Given the description of an element on the screen output the (x, y) to click on. 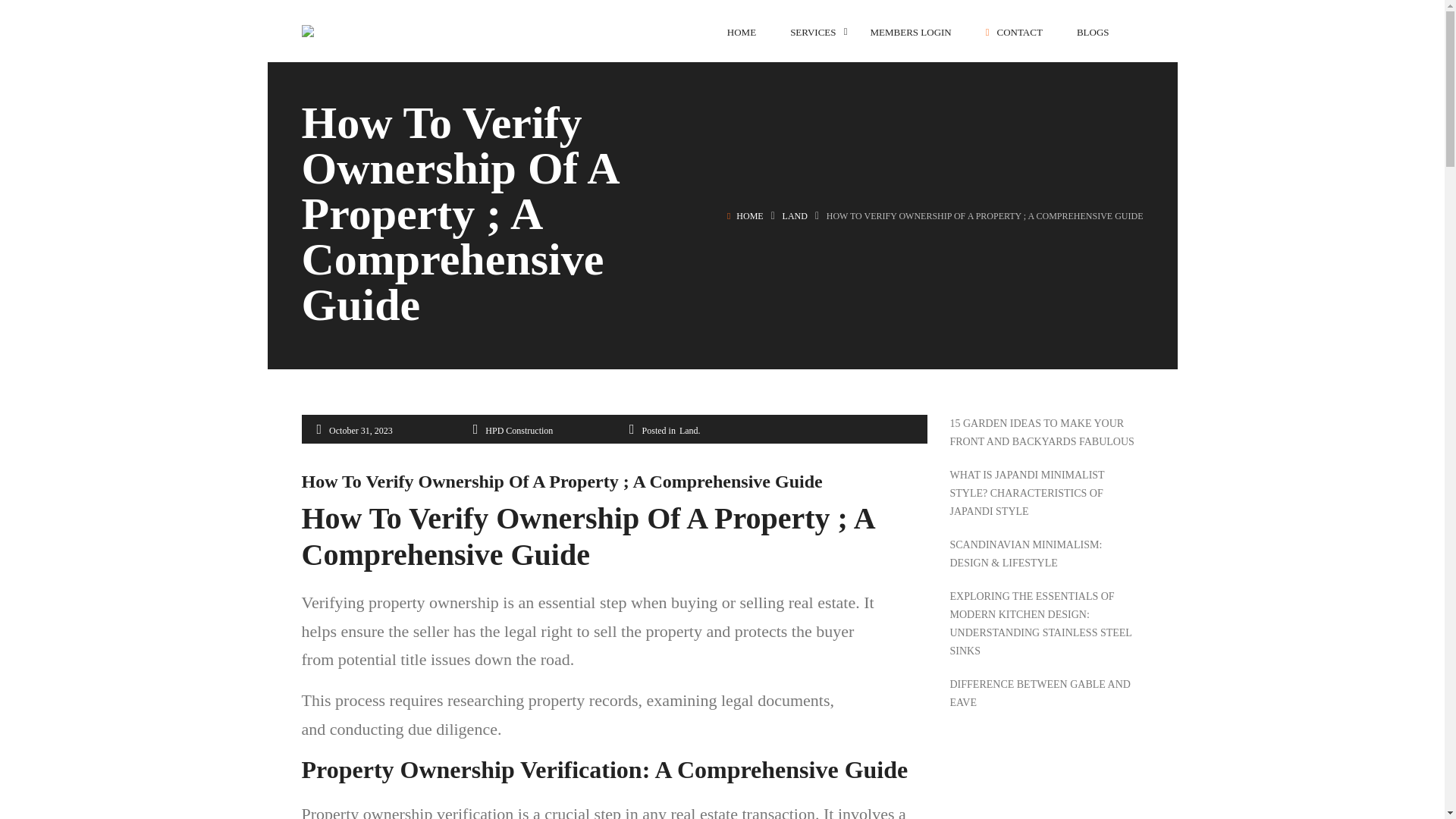
Land (795, 215)
CONTACT (1013, 31)
BLOGS (1093, 31)
HOME (740, 31)
October 31, 2023 (361, 430)
Land (688, 430)
LAND (795, 215)
HPD Construction (518, 430)
MEMBERS LOGIN (911, 31)
SERVICES (812, 31)
